Given the description of an element on the screen output the (x, y) to click on. 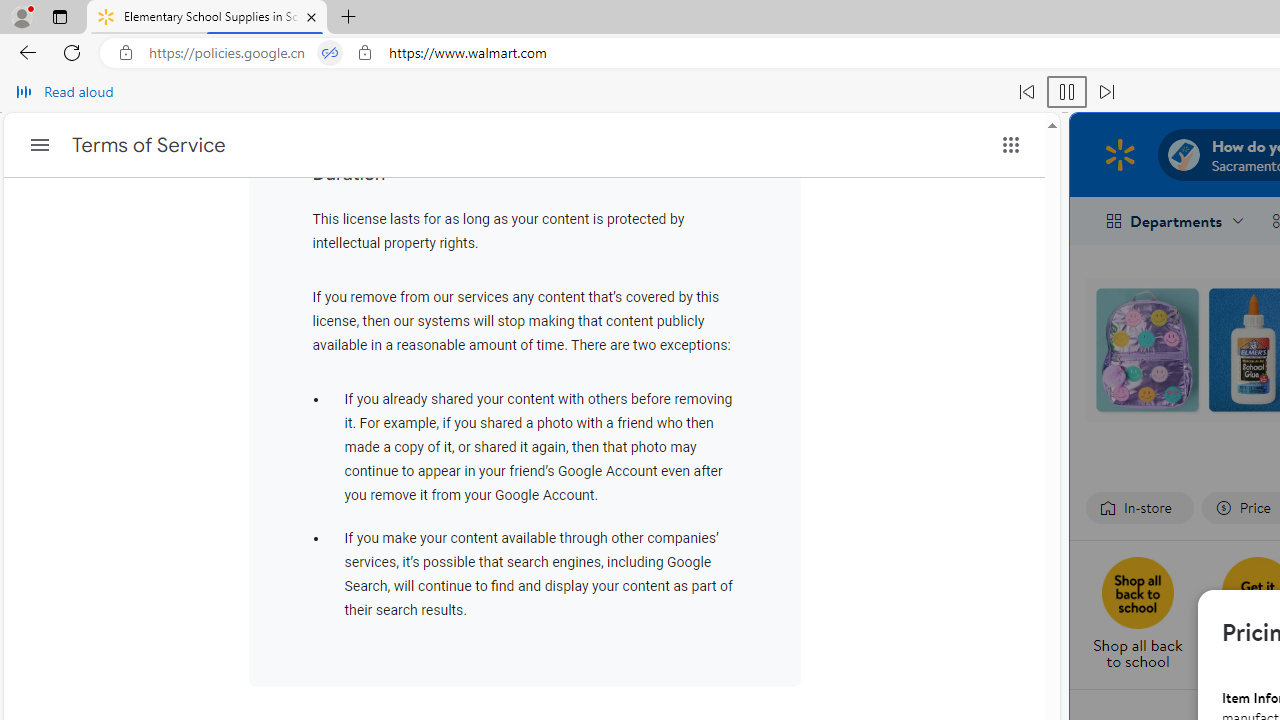
Tabs in split screen (330, 53)
Read next paragraph (1105, 92)
Read previous paragraph (1026, 92)
Pause read aloud (Ctrl+Shift+U) (1065, 92)
